Given the description of an element on the screen output the (x, y) to click on. 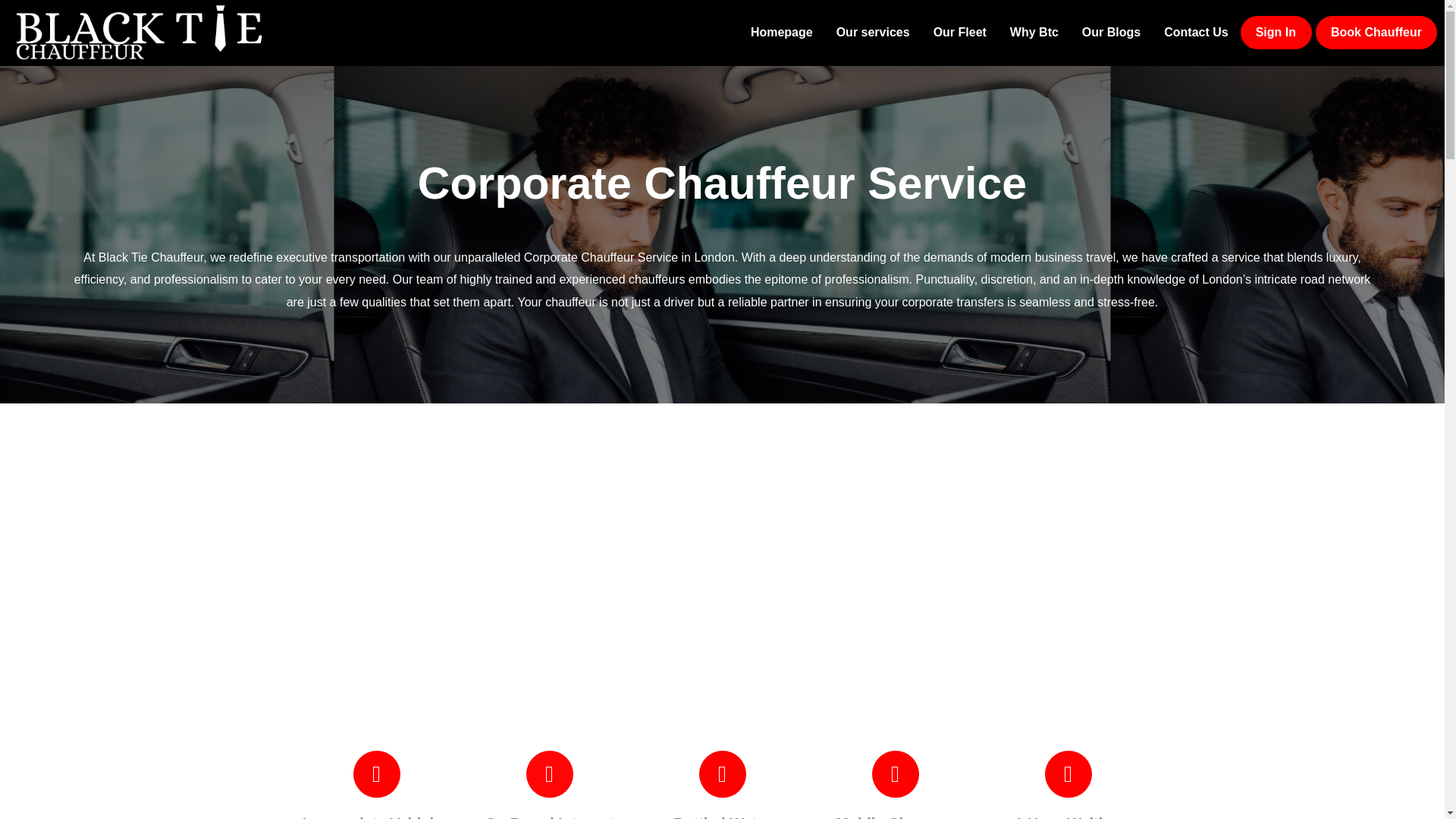
Contact Us (1196, 32)
Our services (873, 32)
Book Chauffeur (1375, 32)
Why Btc (1034, 32)
Our Blogs (1110, 32)
Sign In (1275, 32)
Our Fleet (959, 32)
Homepage (781, 32)
